Given the description of an element on the screen output the (x, y) to click on. 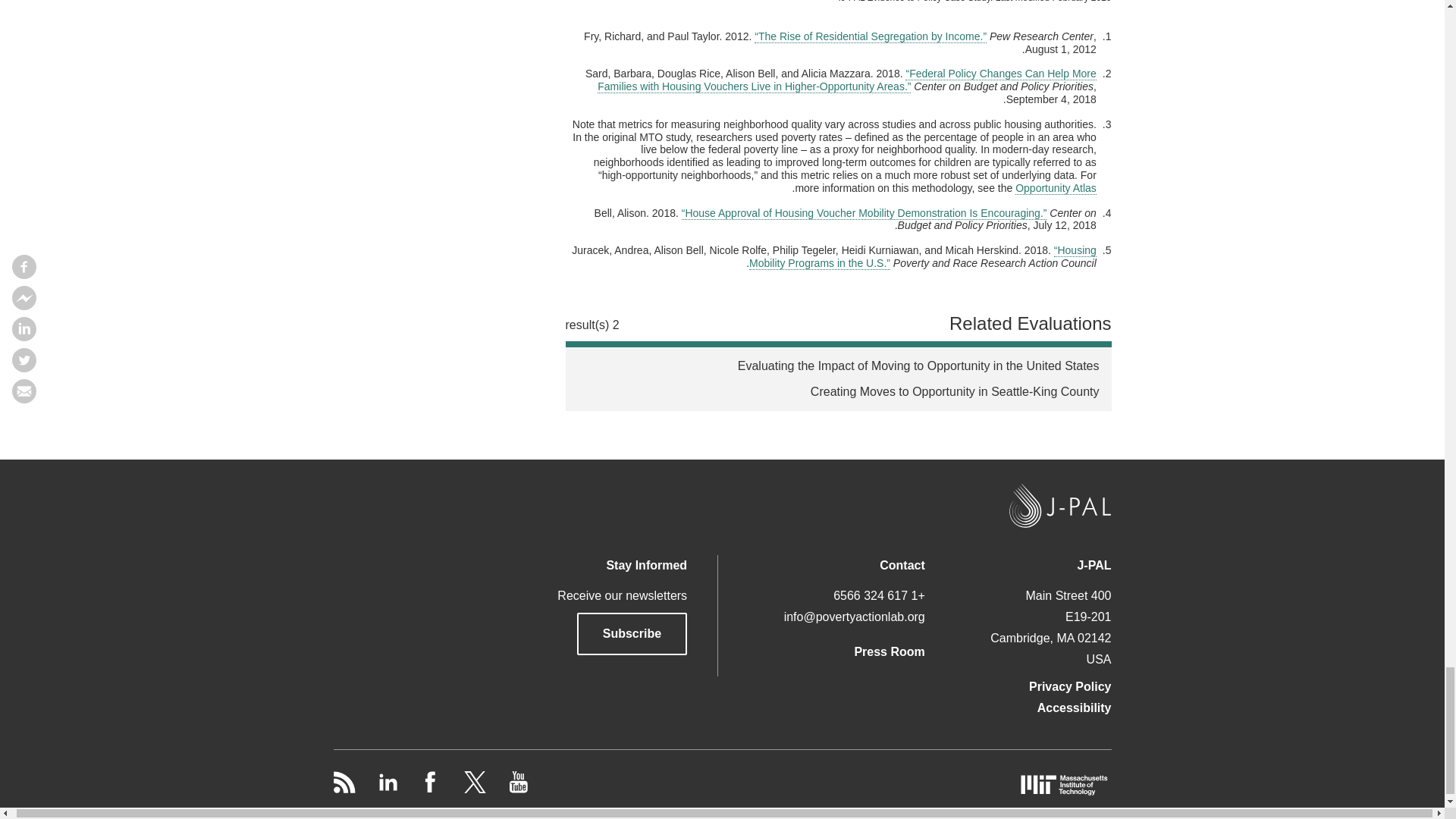
rss feed (344, 788)
LinkedIn (384, 788)
twitter (472, 788)
facebook (429, 788)
youtube (516, 788)
